Given the description of an element on the screen output the (x, y) to click on. 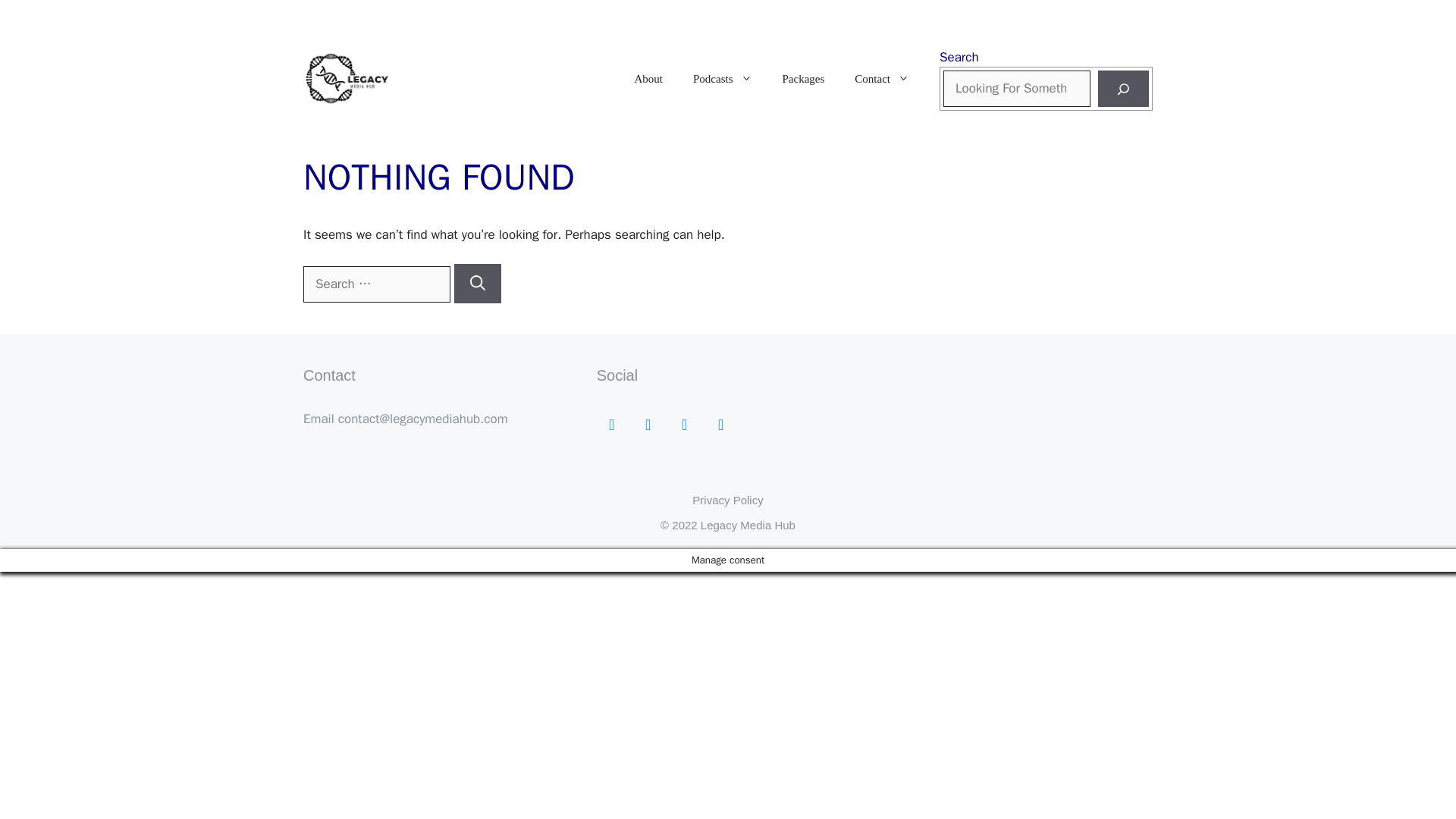
Packages (803, 78)
Facebook (611, 424)
Contact (882, 78)
Search for: (375, 284)
Podcasts (722, 78)
Twitter (684, 424)
YouTube (721, 424)
LinkedIn (648, 424)
About (649, 78)
Privacy Policy (727, 499)
